Given the description of an element on the screen output the (x, y) to click on. 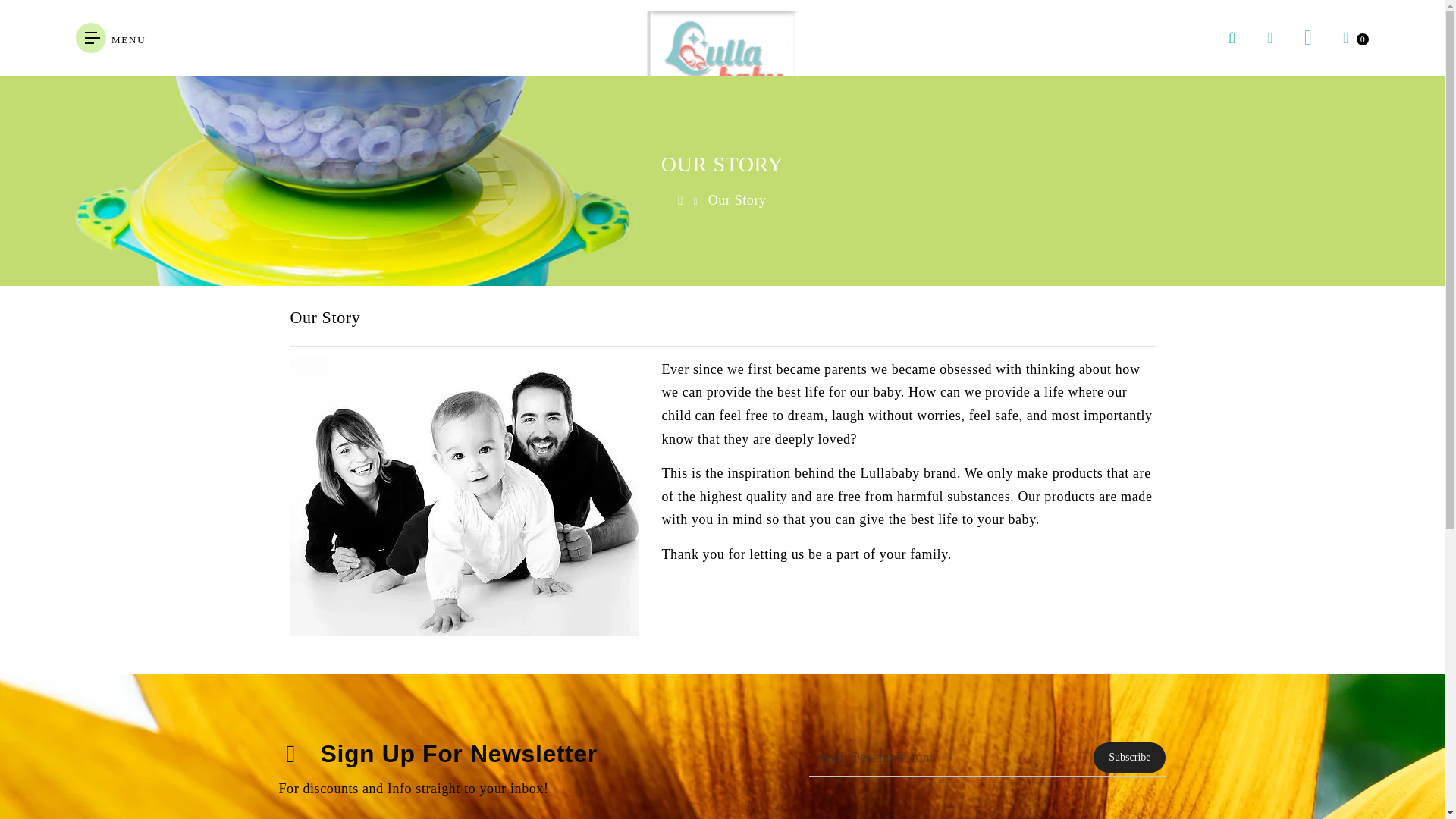
0 (1345, 37)
My Account (1307, 37)
Subscribe (1129, 757)
